Given the description of an element on the screen output the (x, y) to click on. 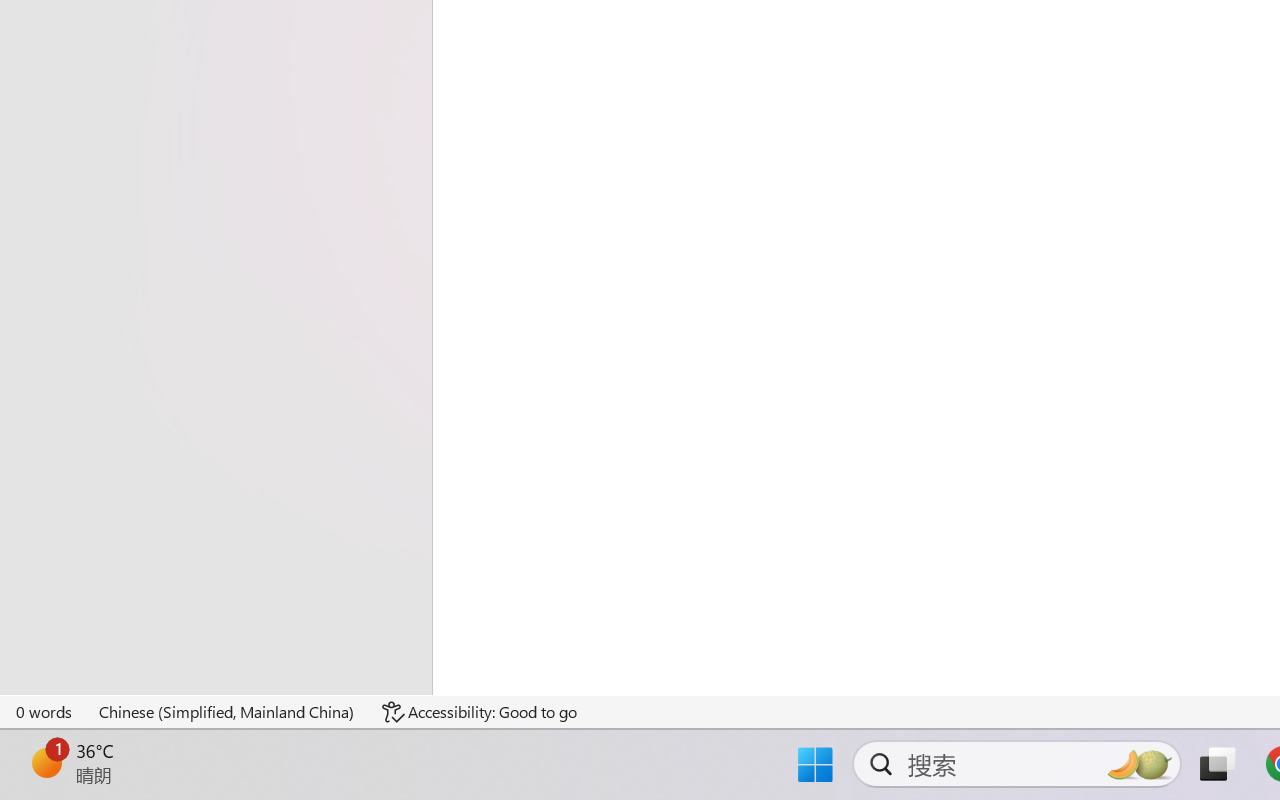
Language Chinese (Simplified, Mainland China) (227, 712)
